Given the description of an element on the screen output the (x, y) to click on. 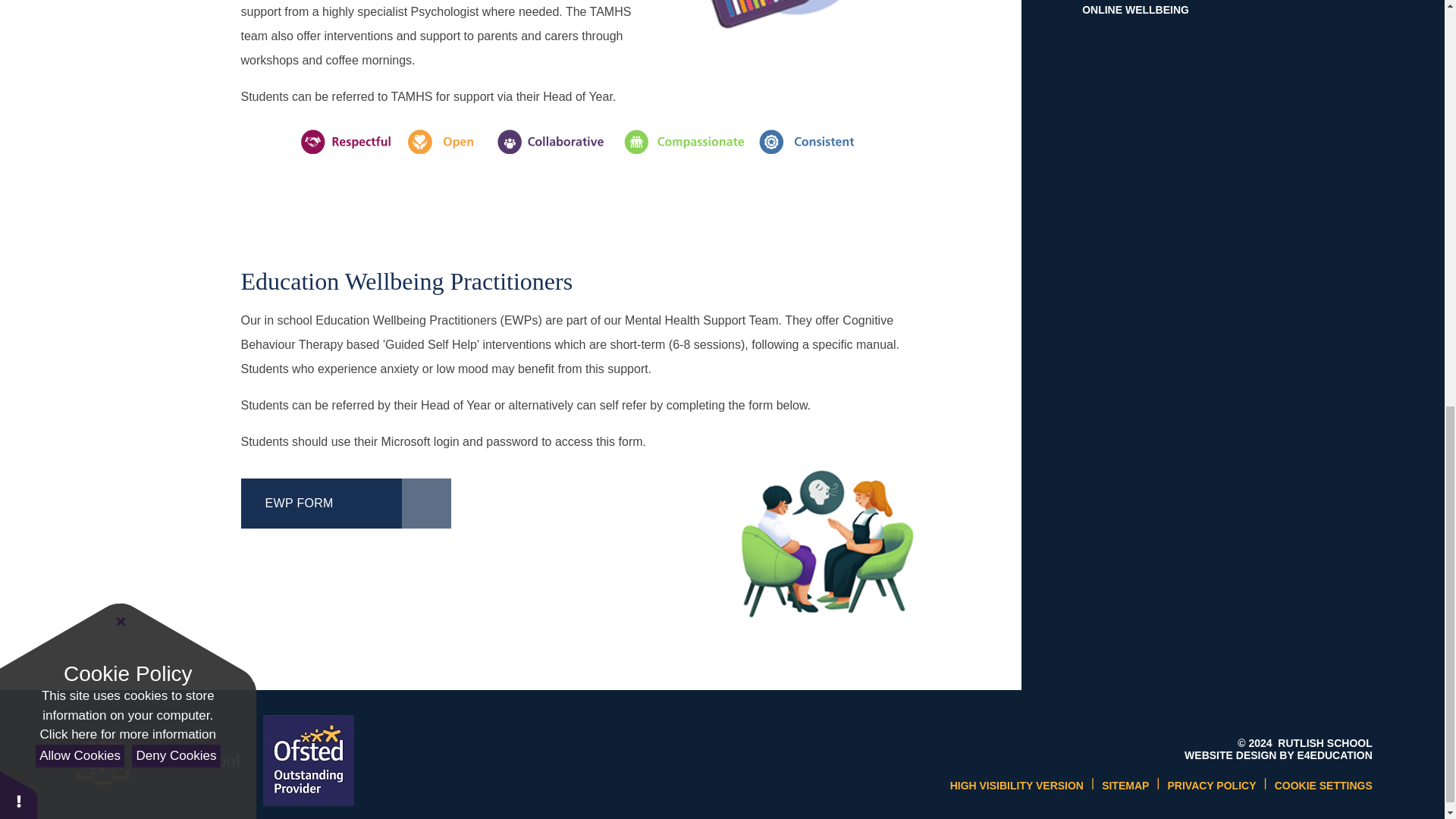
Place2Be at Rutlish School (795, 29)
Cookie Settings (1324, 785)
